Given the description of an element on the screen output the (x, y) to click on. 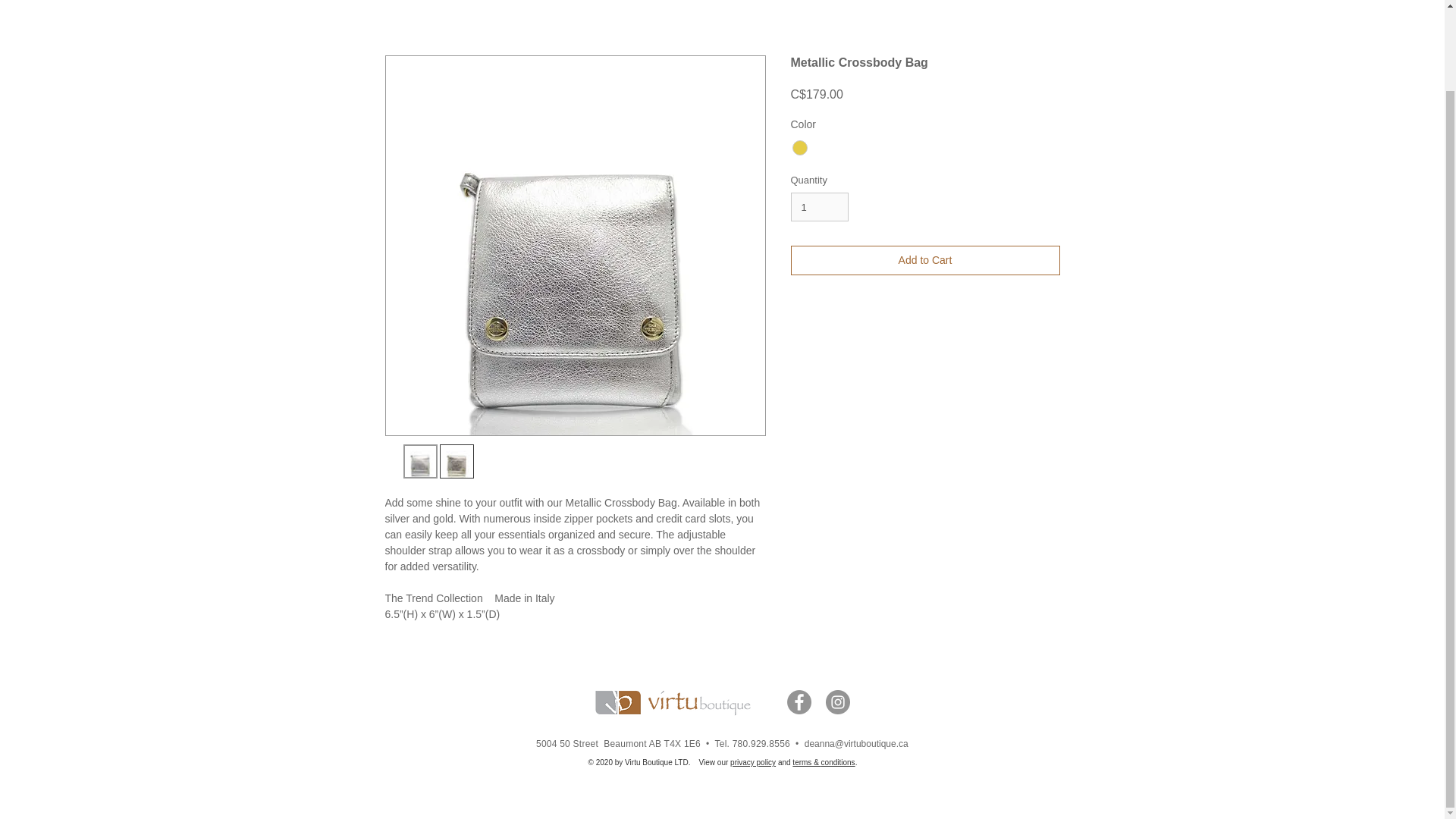
Add to Cart (924, 260)
1 (818, 206)
privacy policy (753, 762)
